Given the description of an element on the screen output the (x, y) to click on. 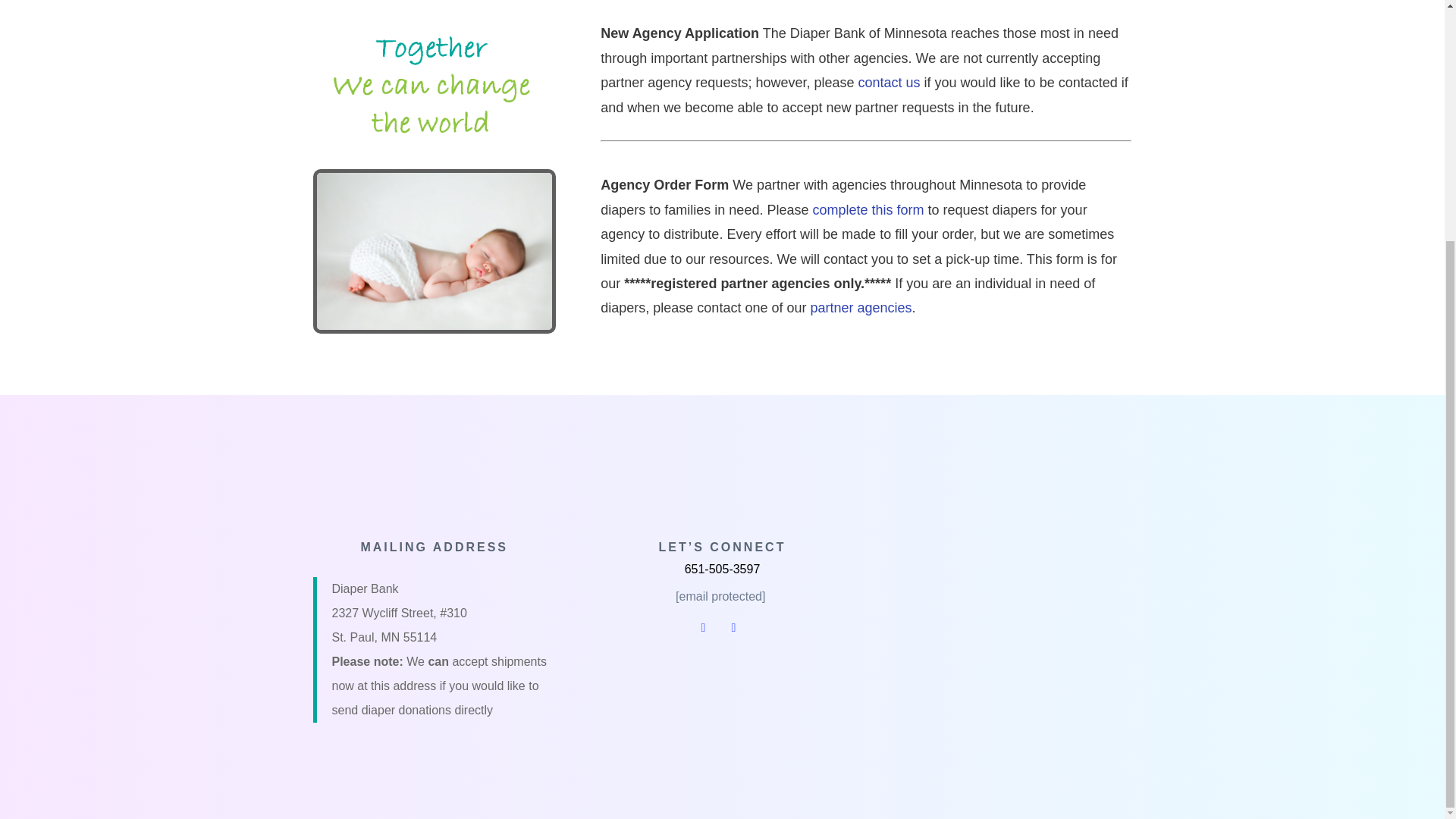
Follow on Facebook (702, 627)
Follow on RSS (732, 627)
sleeping newborn baby (434, 251)
